Given the description of an element on the screen output the (x, y) to click on. 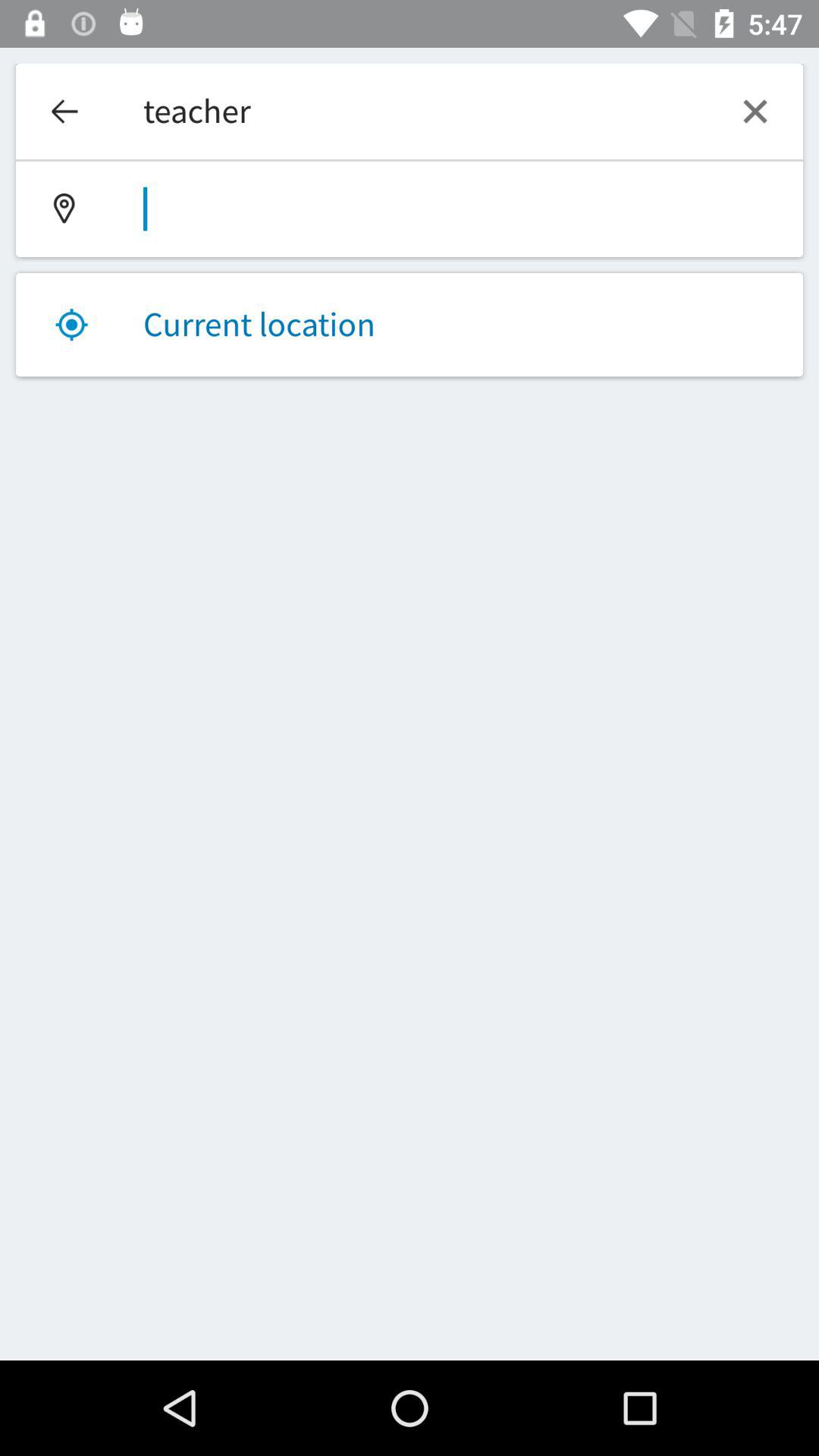
flip until the teacher (409, 111)
